Given the description of an element on the screen output the (x, y) to click on. 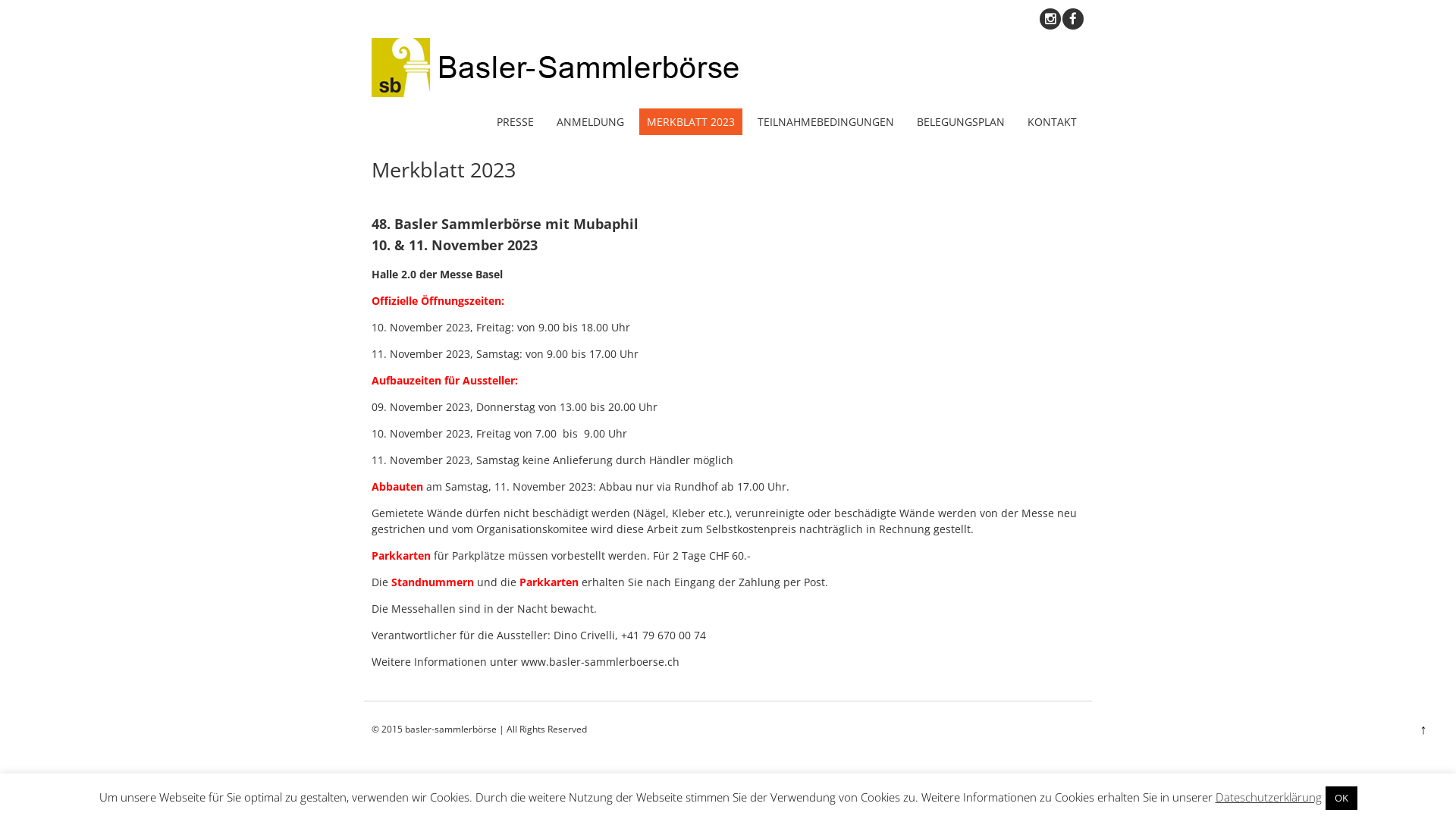
instagram Element type: hover (1049, 18)
BELEGUNGSPLAN Element type: text (960, 121)
KONTAKT Element type: text (1051, 121)
ANMELDUNG Element type: text (590, 121)
facebook Element type: hover (1072, 18)
PRESSE Element type: text (515, 121)
OK Element type: text (1341, 797)
TEILNAHMEBEDINGUNGEN Element type: text (825, 121)
MERKBLATT 2023 Element type: text (690, 121)
